Given the description of an element on the screen output the (x, y) to click on. 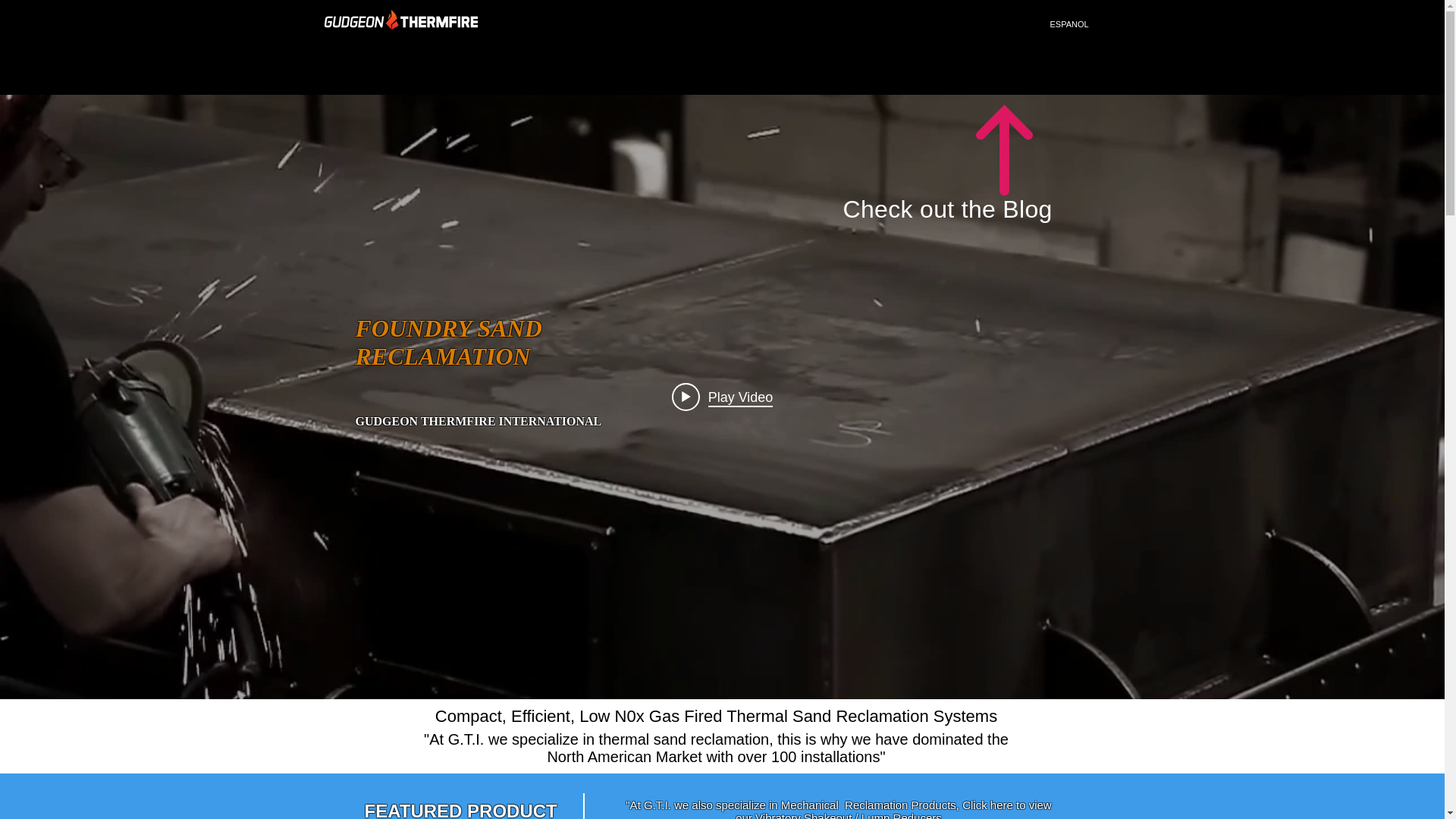
Play Video (722, 396)
ESPANOL  (1069, 23)
